Given the description of an element on the screen output the (x, y) to click on. 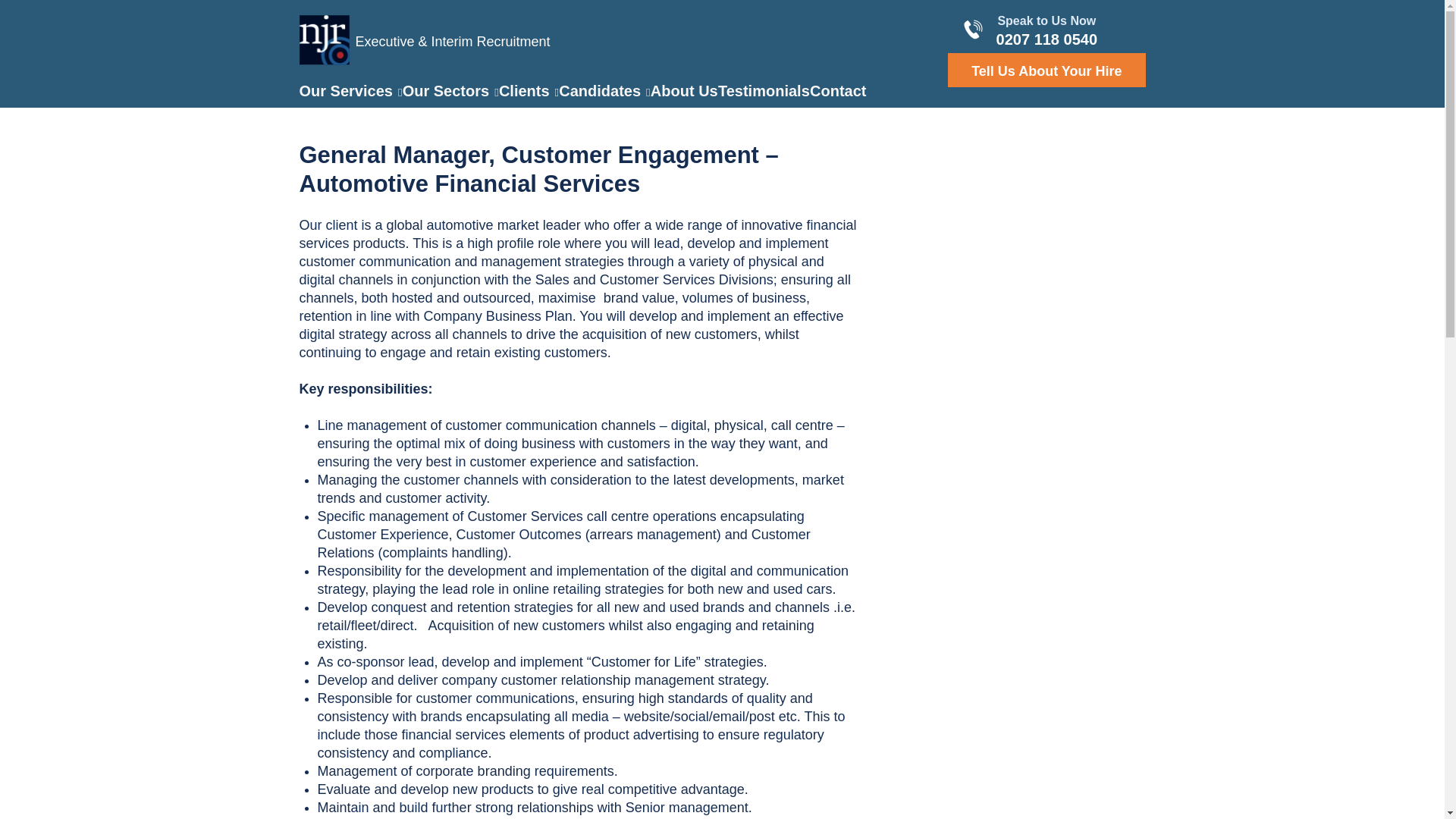
Testimonials (763, 90)
Our Services (349, 91)
Contact (837, 90)
Clients (529, 91)
Our Sectors (451, 91)
0207 118 0540 (1046, 39)
Tell Us About Your Hire (1045, 69)
About Us (683, 90)
Candidates (604, 91)
